Given the description of an element on the screen output the (x, y) to click on. 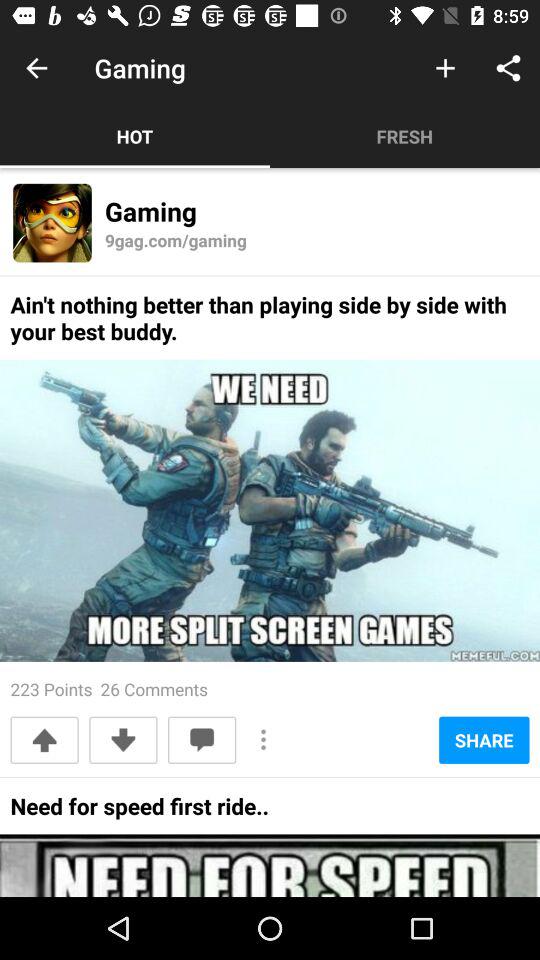
choose icon to the left of the share (263, 739)
